Given the description of an element on the screen output the (x, y) to click on. 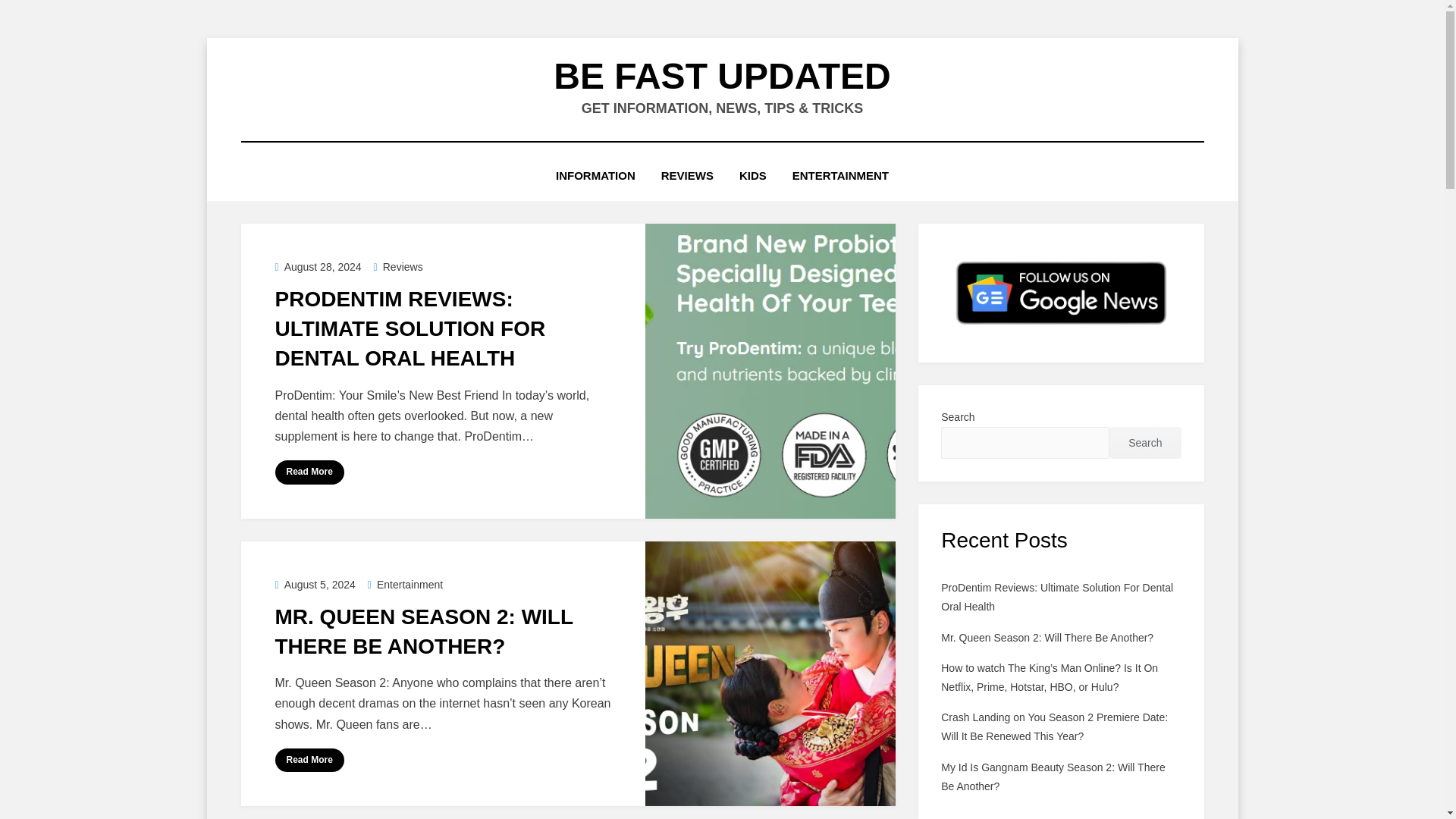
MR. QUEEN SEASON 2: WILL THERE BE ANOTHER? (423, 631)
BE FAST UPDATED (721, 76)
August 5, 2024 (315, 584)
Reviews (398, 266)
REVIEWS (686, 175)
Be Fast Updated (721, 76)
INFORMATION (595, 175)
KIDS (752, 175)
